Given the description of an element on the screen output the (x, y) to click on. 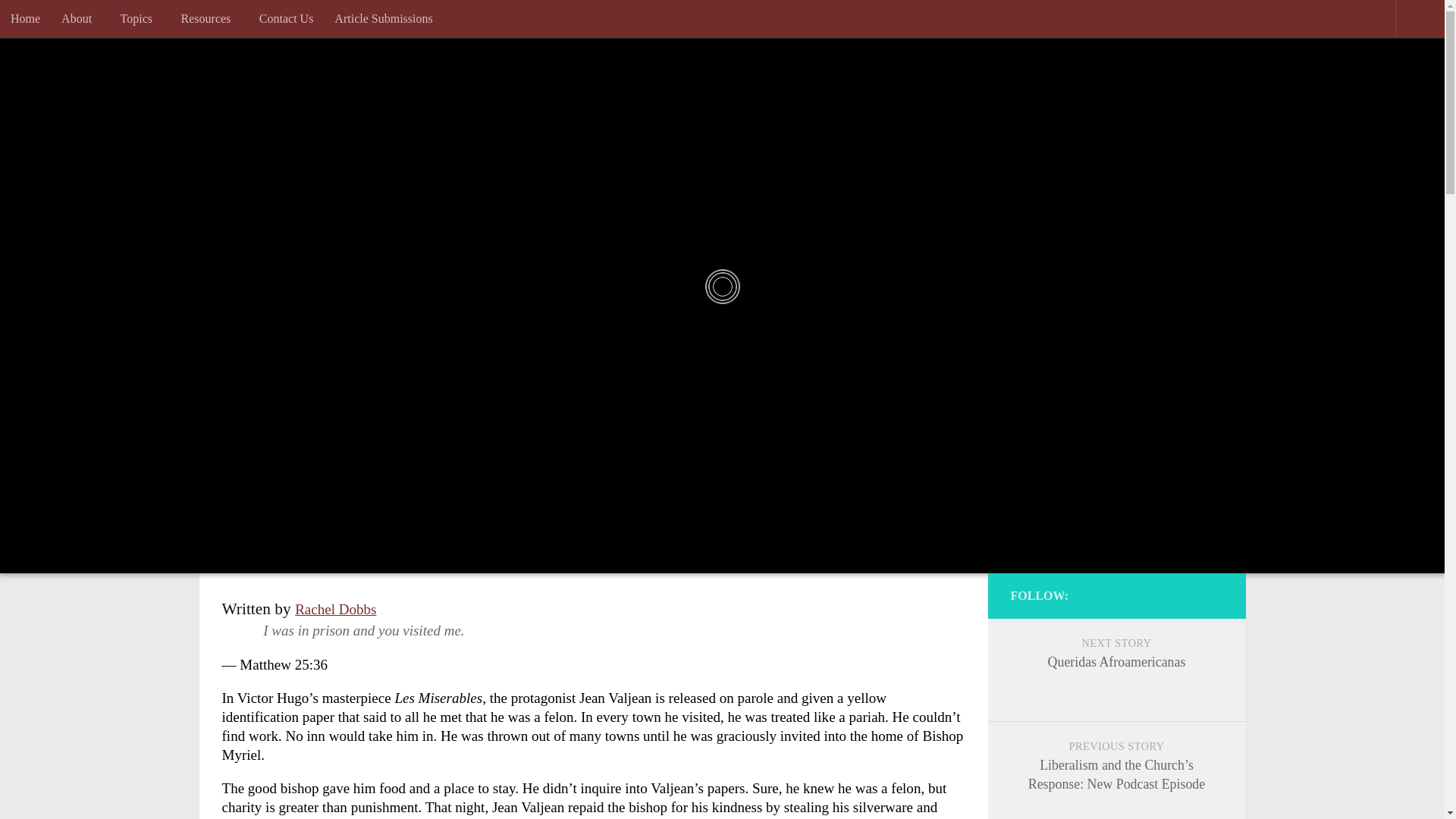
Rachel Dobbs (335, 609)
About (80, 18)
Contact Us (286, 18)
Article Submissions (382, 18)
Topics (140, 18)
Home (25, 18)
Skip to content (66, 22)
Resources (209, 18)
